Given the description of an element on the screen output the (x, y) to click on. 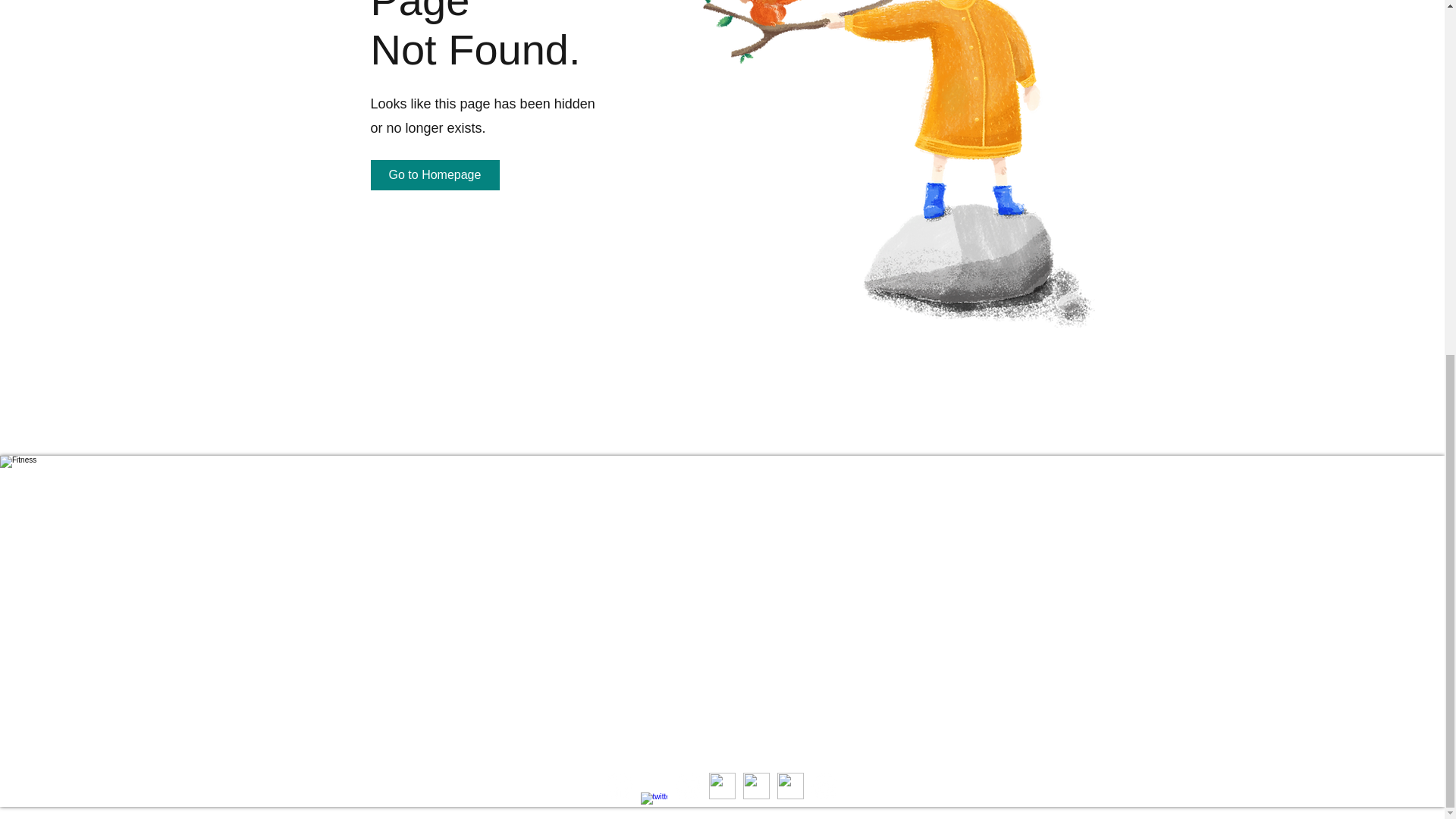
About Us (399, 464)
